Given the description of an element on the screen output the (x, y) to click on. 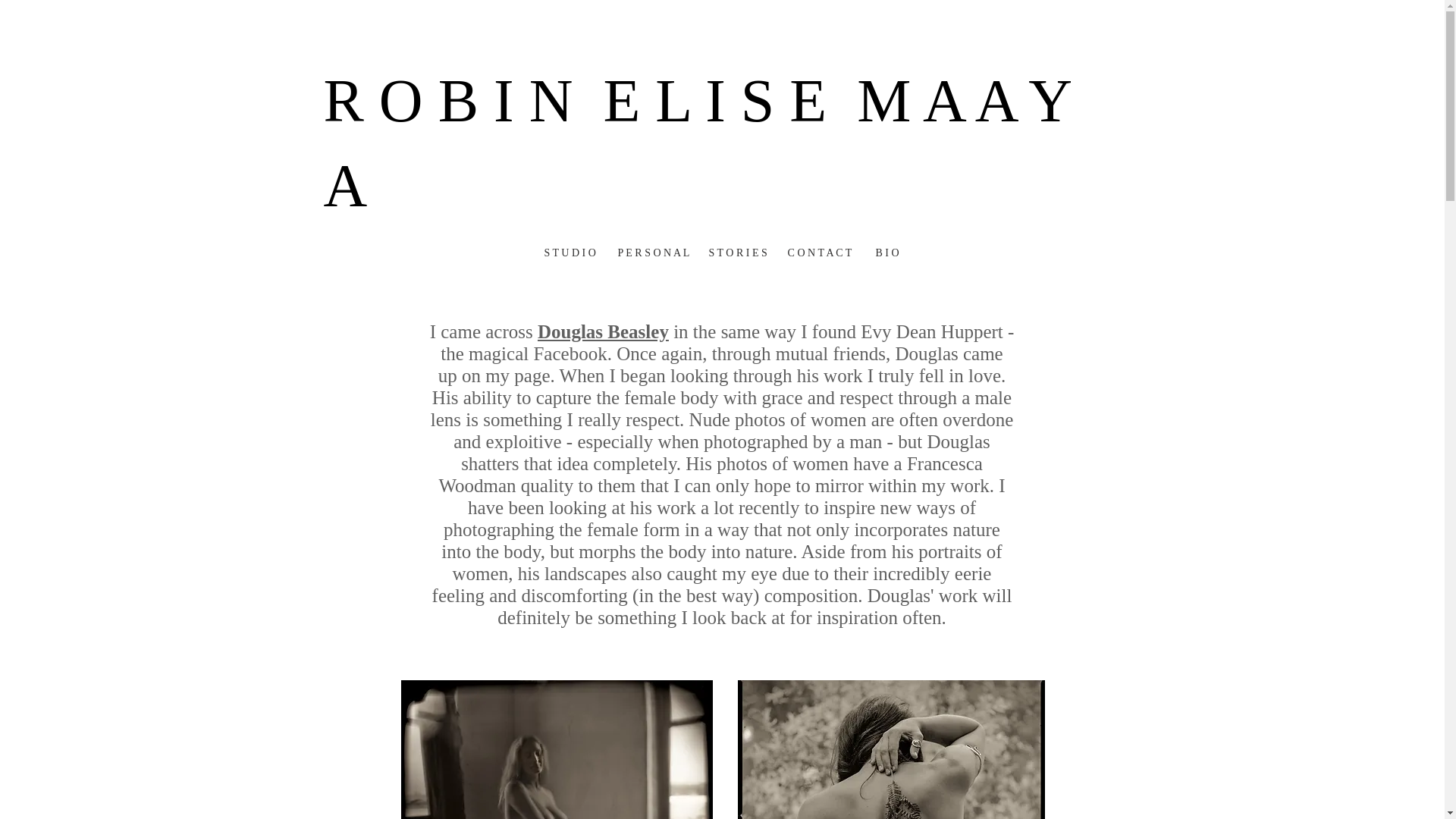
S T U D I O (568, 253)
S T O R I E S (736, 253)
B I O (887, 253)
C O N T A C T (818, 253)
R O B I N  E L I S E  M A A Y A (696, 142)
P E R S O N A L (652, 253)
Douglas Beasley (602, 331)
